Given the description of an element on the screen output the (x, y) to click on. 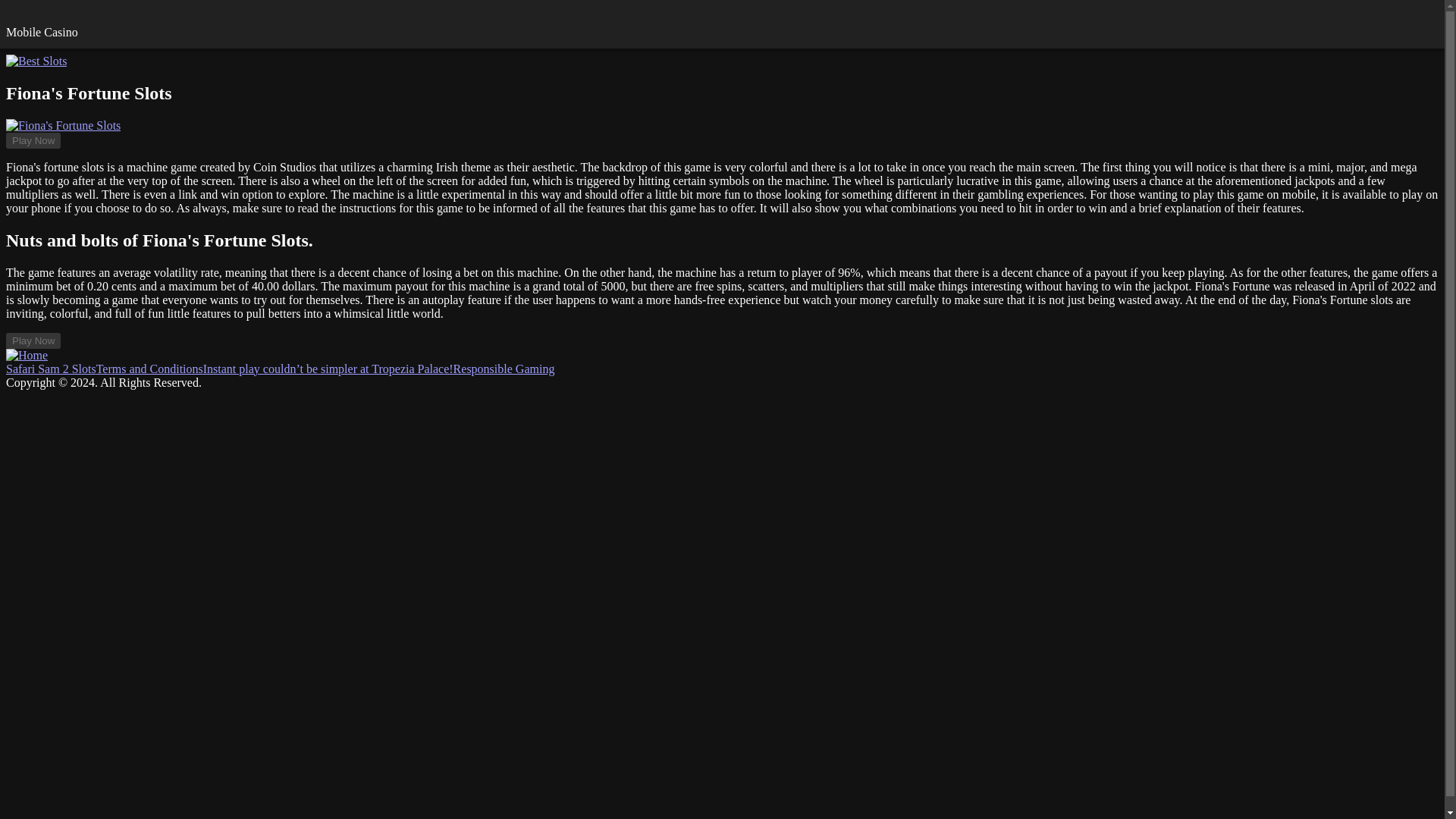
Responsible Gaming (503, 368)
Safari Sam 2 Slots (50, 368)
Mobile Casino (42, 31)
Play Now (33, 140)
Play Now (33, 340)
Terms and Conditions (149, 368)
